Given the description of an element on the screen output the (x, y) to click on. 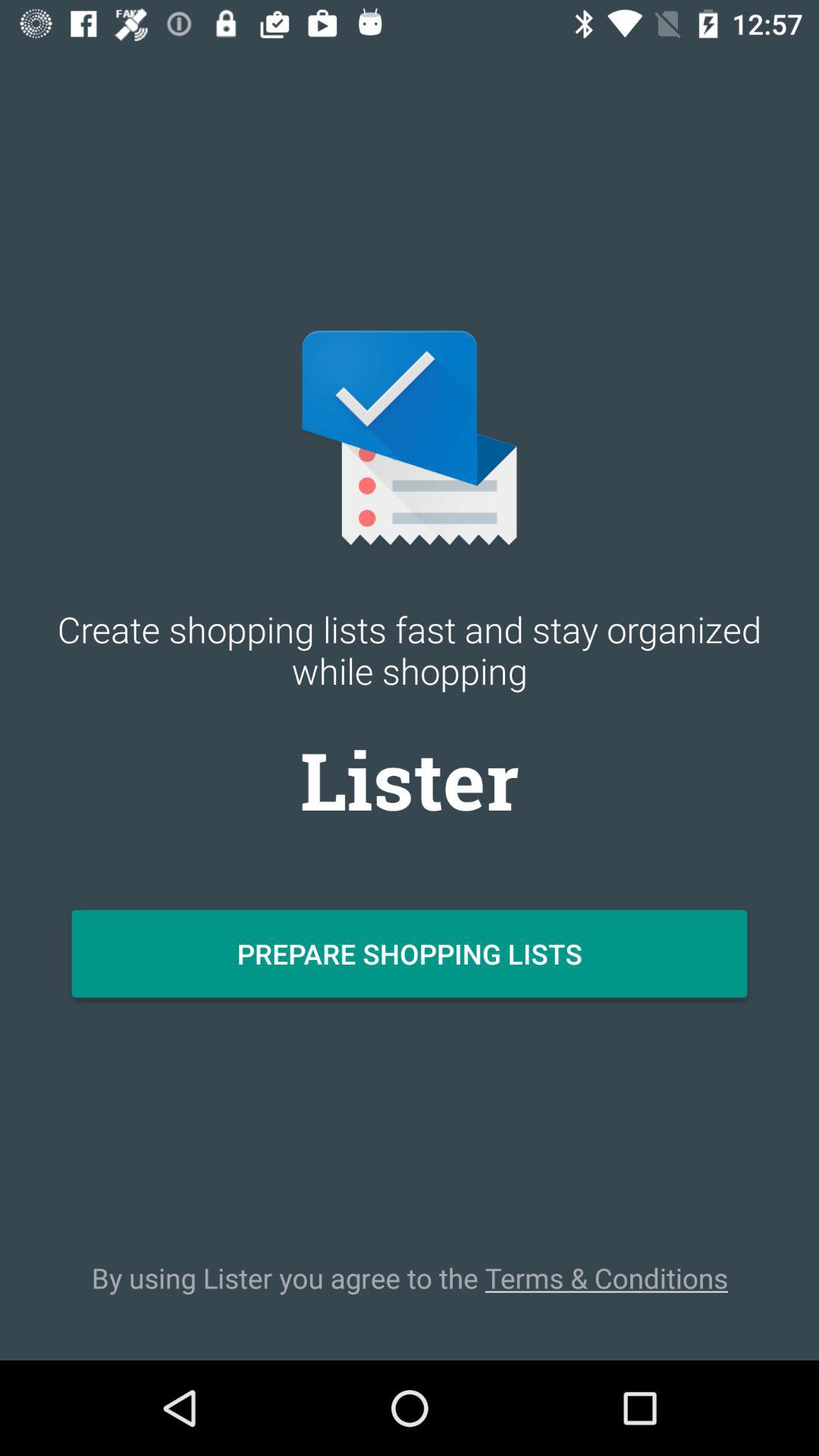
click the by using lister item (409, 1277)
